Given the description of an element on the screen output the (x, y) to click on. 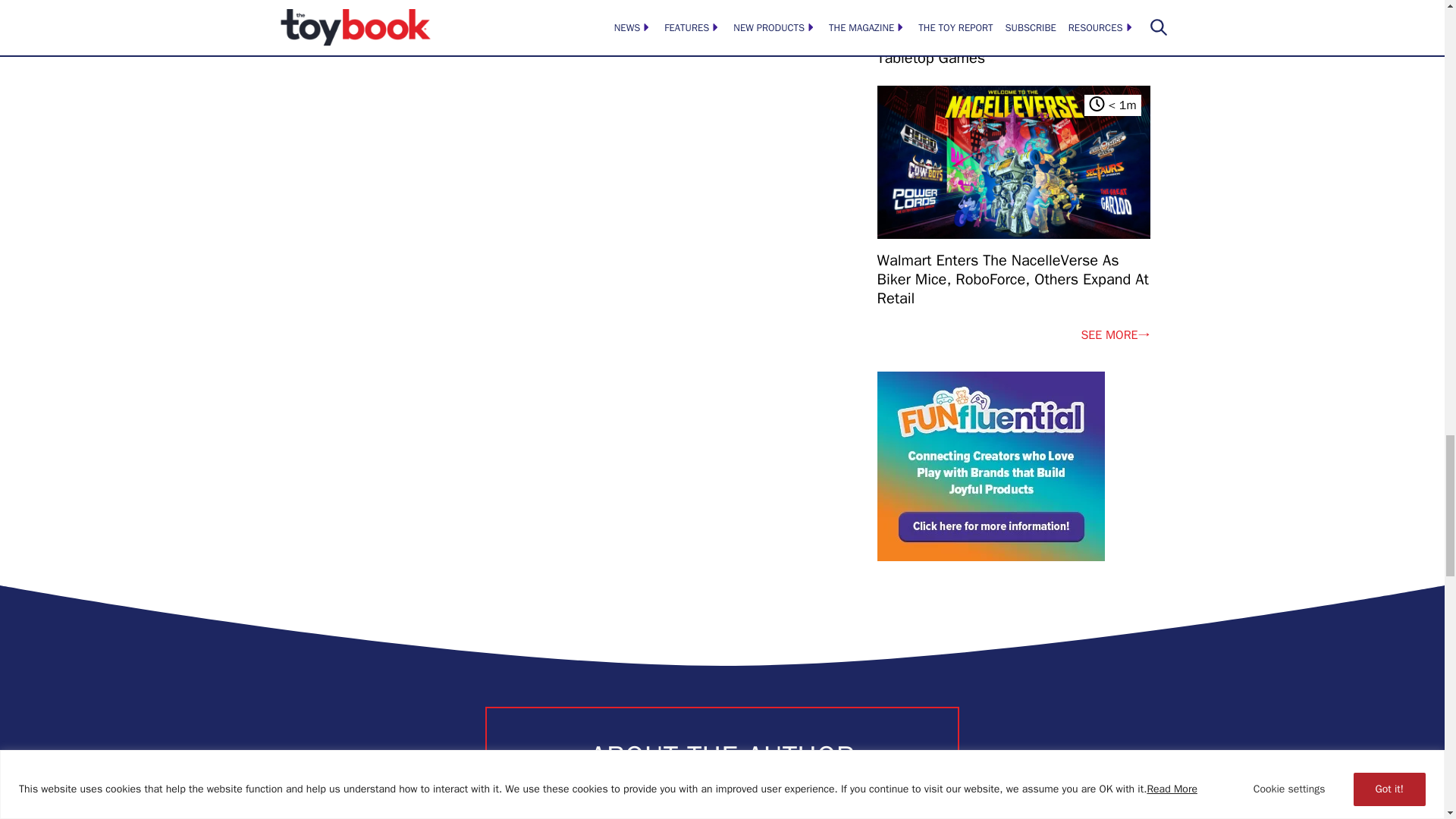
Exploding Kittens to Roll Out 5 New Tabletop Games (1013, 48)
see more (1115, 334)
Exploding Kittens to Roll Out 5 New Tabletop Games (1013, 33)
